Given the description of an element on the screen output the (x, y) to click on. 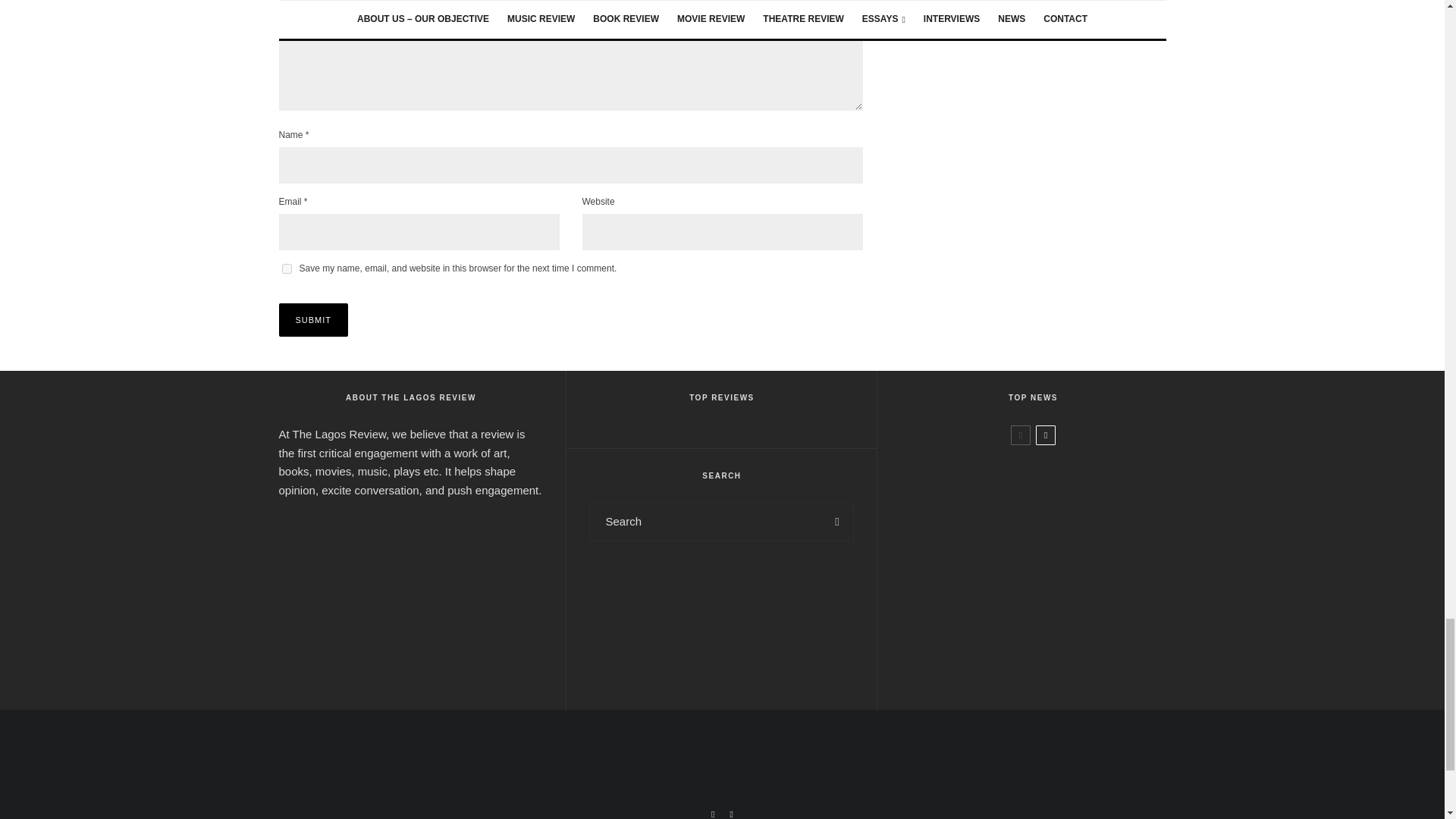
yes (287, 268)
Submit (314, 319)
